Given the description of an element on the screen output the (x, y) to click on. 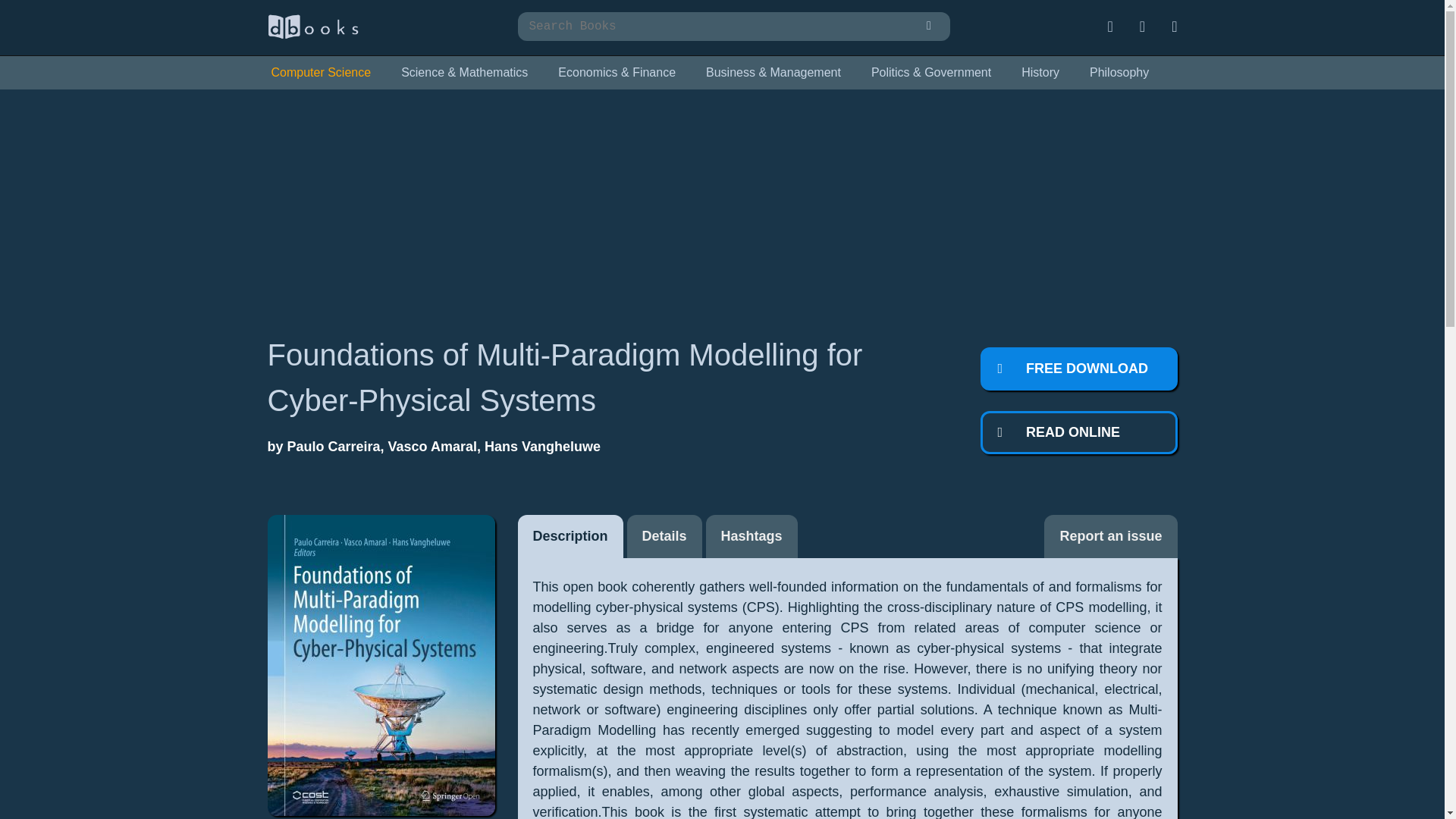
Science and Mathematics (464, 72)
Politics and Government (930, 72)
Report an issue (1109, 536)
FREE DOWNLOAD (1077, 368)
History (1039, 72)
Economics and Finance (616, 72)
dBooks.org (312, 35)
Computer Science (320, 72)
Hashtags (751, 536)
Details (664, 536)
